Given the description of an element on the screen output the (x, y) to click on. 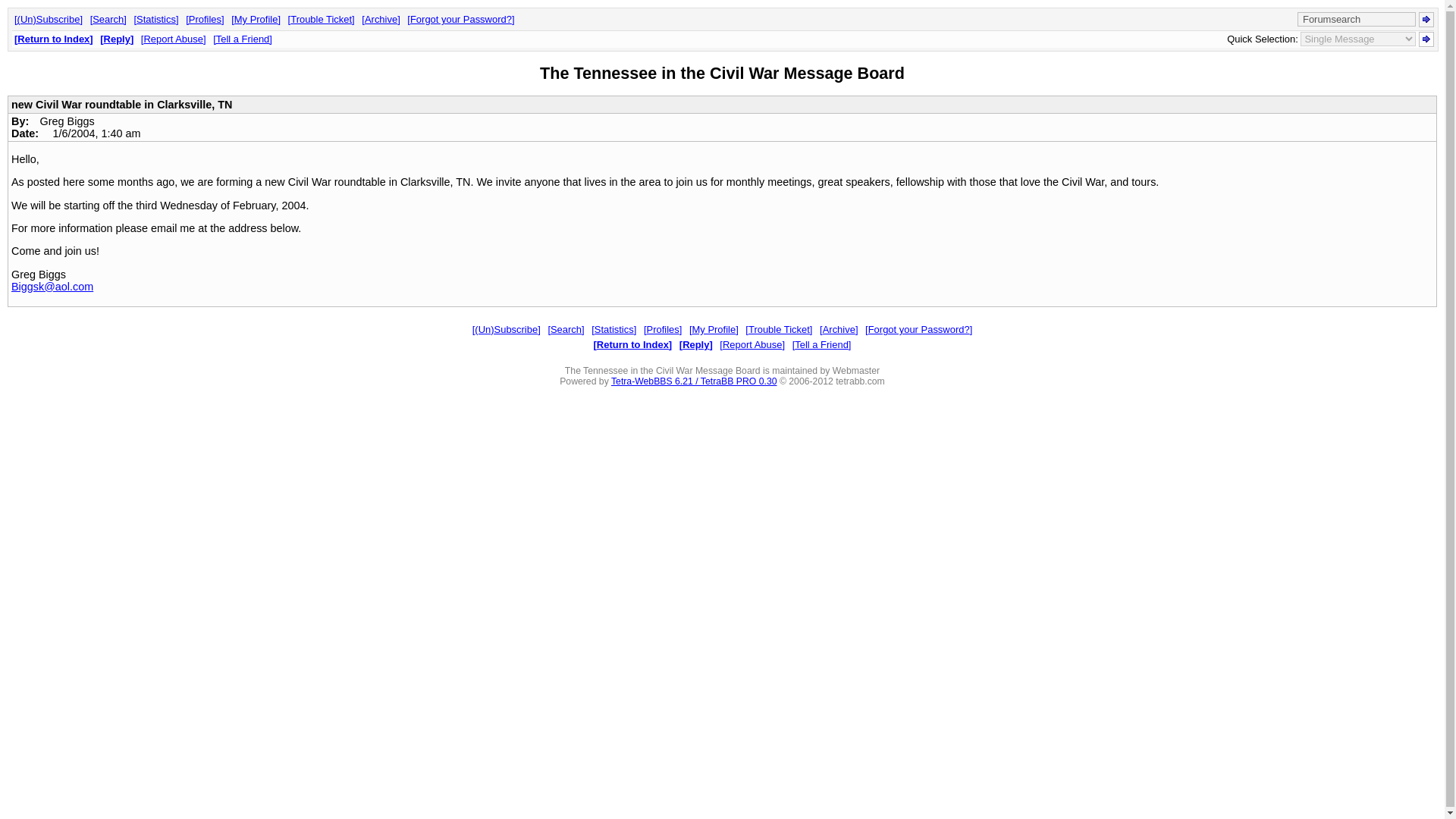
Tell a Friend (242, 39)
Submit (1426, 19)
Return to Index (633, 344)
Statistics (155, 19)
Profiles (662, 328)
 Forumsearch (1356, 19)
Archive (838, 328)
Report Abuse (751, 344)
My Profile (713, 328)
Tell a Friend (821, 344)
Forgot your Password? (460, 19)
Reply (696, 344)
Trouble Ticket (778, 328)
Search (565, 328)
